Given the description of an element on the screen output the (x, y) to click on. 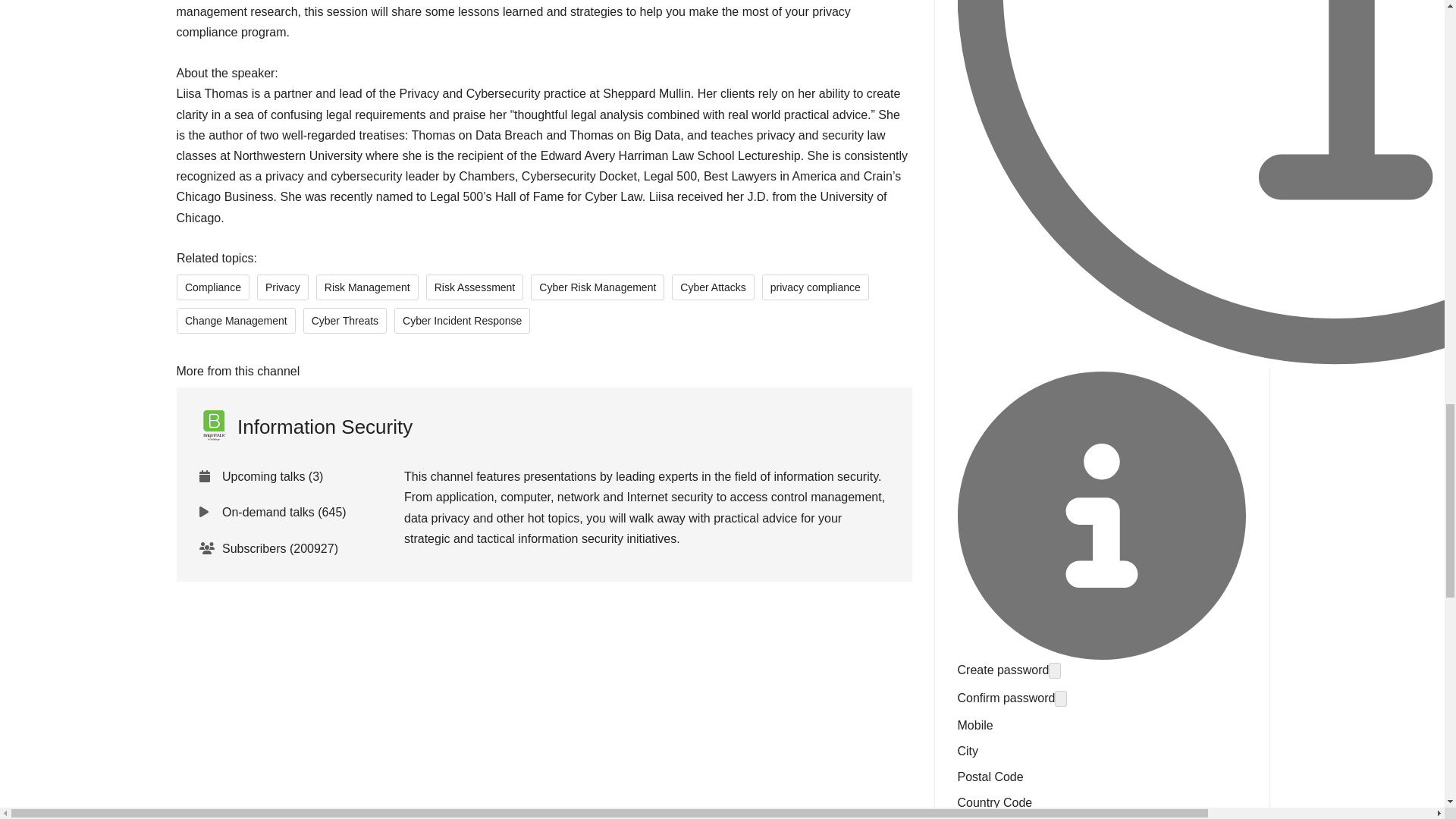
Cyber Incident Response (461, 320)
Risk Assessment (473, 287)
Compliance (212, 287)
Information Security (305, 426)
Change Management (235, 320)
Privacy (281, 287)
Cyber Risk Management (597, 287)
Cyber Attacks (712, 287)
Visit Information Security's channel (305, 426)
Risk Management (366, 287)
